Given the description of an element on the screen output the (x, y) to click on. 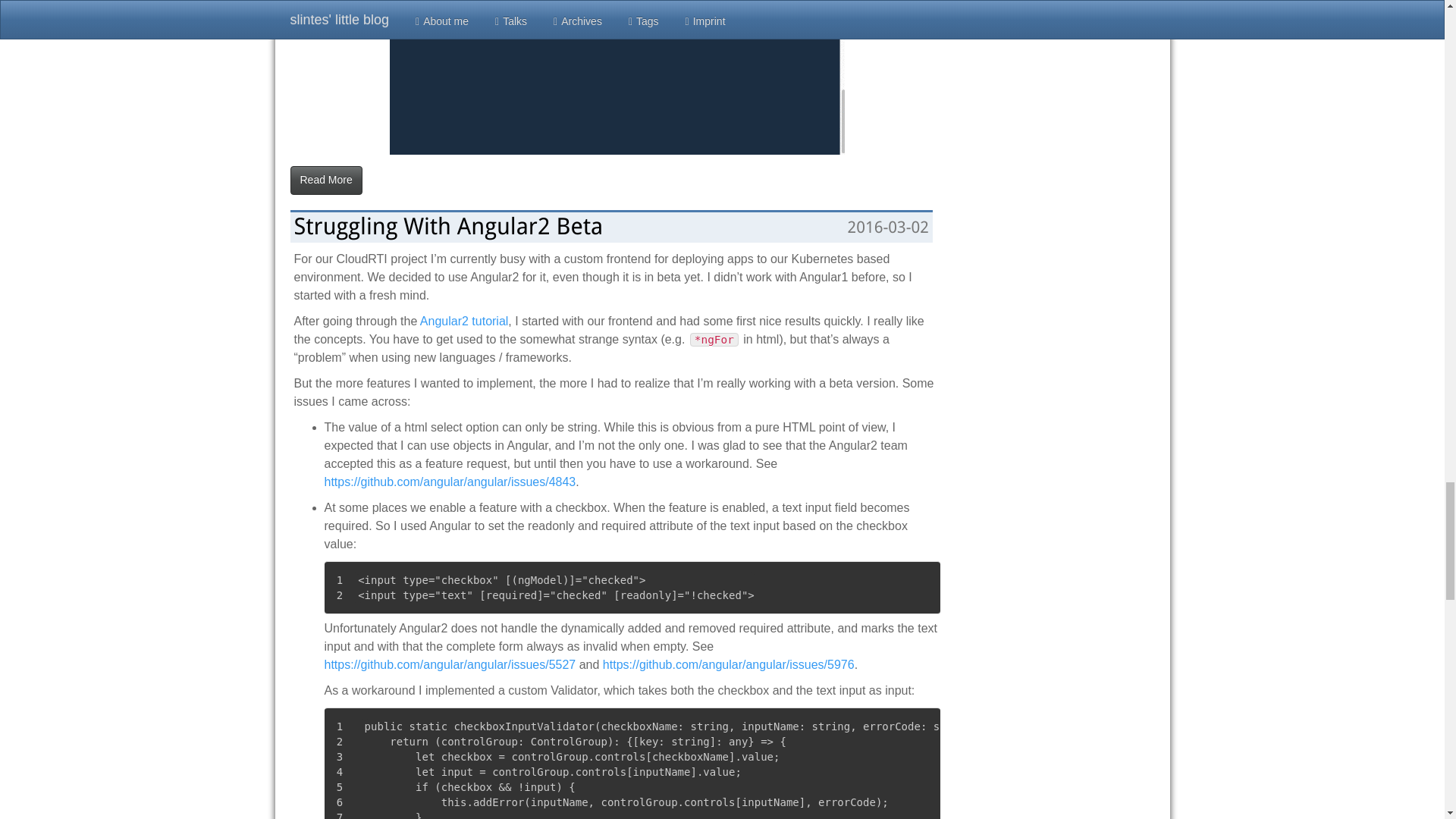
Struggling With Angular2 Beta (449, 225)
Angular2 tutorial (464, 320)
kubectl completion (617, 77)
Read More (325, 180)
